Given the description of an element on the screen output the (x, y) to click on. 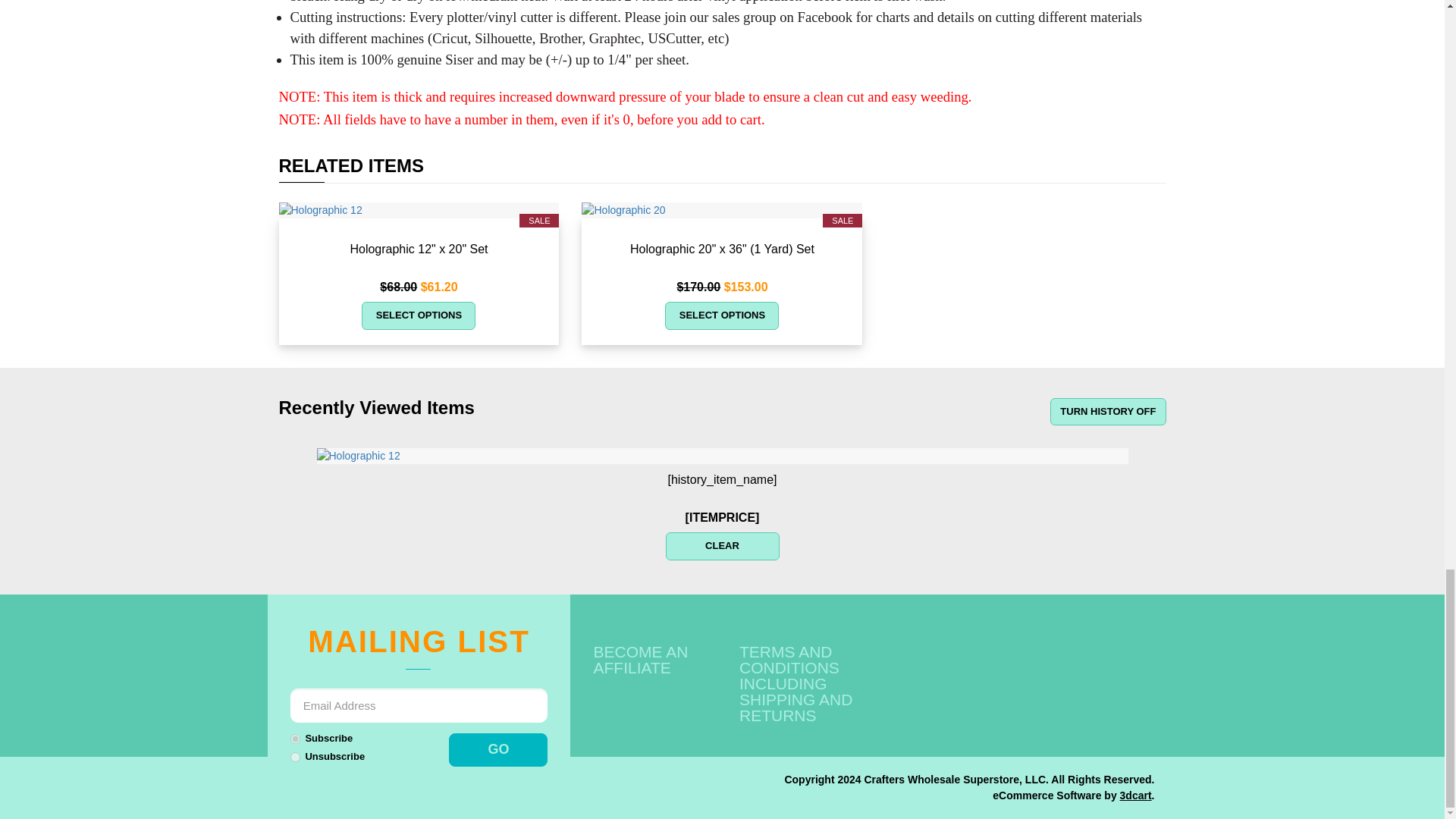
Like Us on Facebook (1016, 656)
Follow Us on Pinterest (1139, 656)
Follow Us on Instagram (1139, 687)
1 (294, 738)
Subscribe to our Channel (1098, 656)
Follow Us on Twitter (1057, 656)
